Given the description of an element on the screen output the (x, y) to click on. 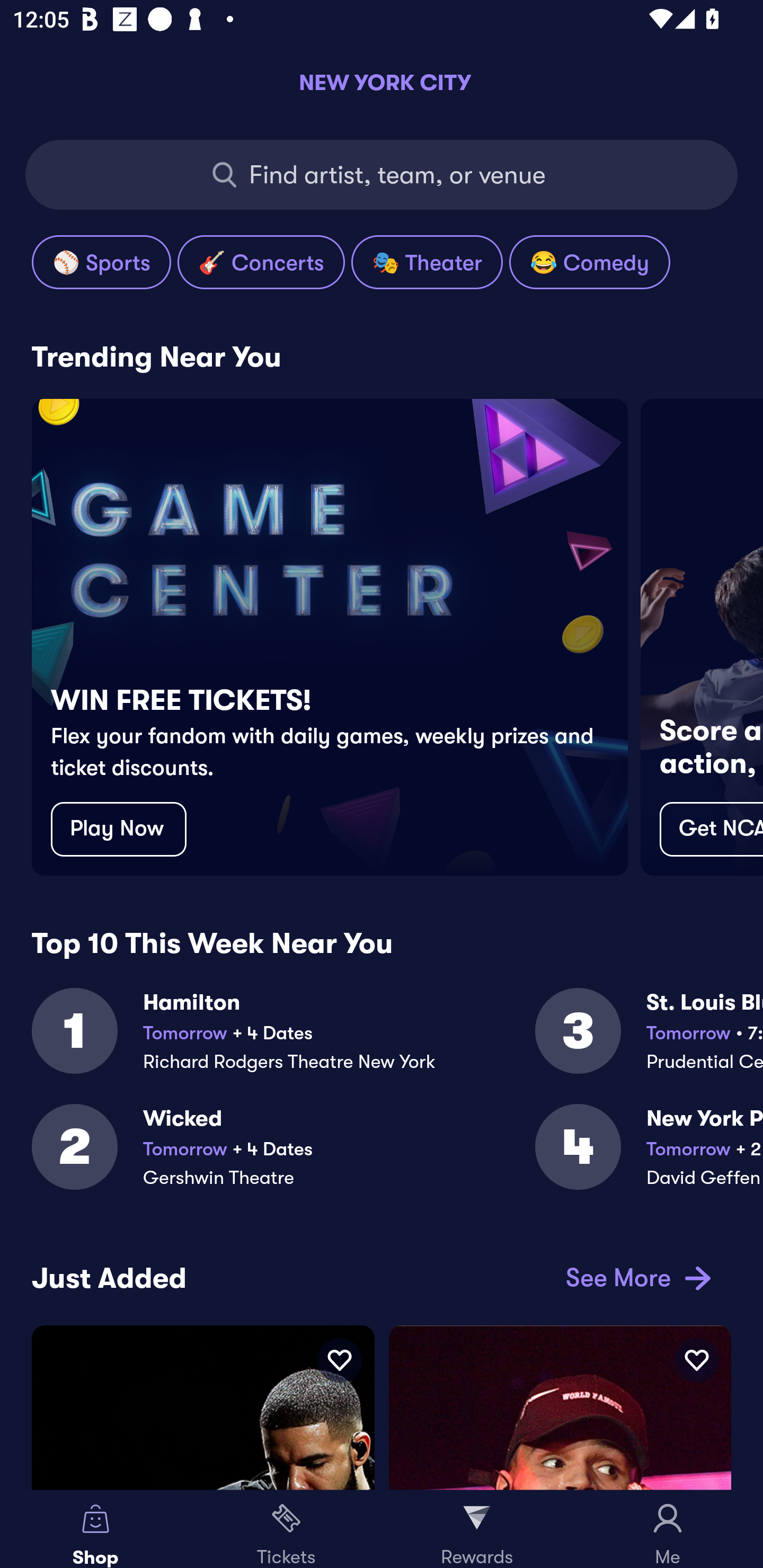
NEW YORK CITY (381, 81)
Find artist, team, or venue (381, 174)
⚾ Sports (101, 261)
🎸 Concerts (261, 261)
🎭 Theater (426, 261)
😂 Comedy (589, 261)
2 Wicked Tomorrow  + 4 Dates Gershwin Theatre (283, 1158)
See More (635, 1277)
icon button (339, 1359)
icon button (696, 1359)
Shop (95, 1529)
Tickets (285, 1529)
Rewards (476, 1529)
Me (667, 1529)
